Given the description of an element on the screen output the (x, y) to click on. 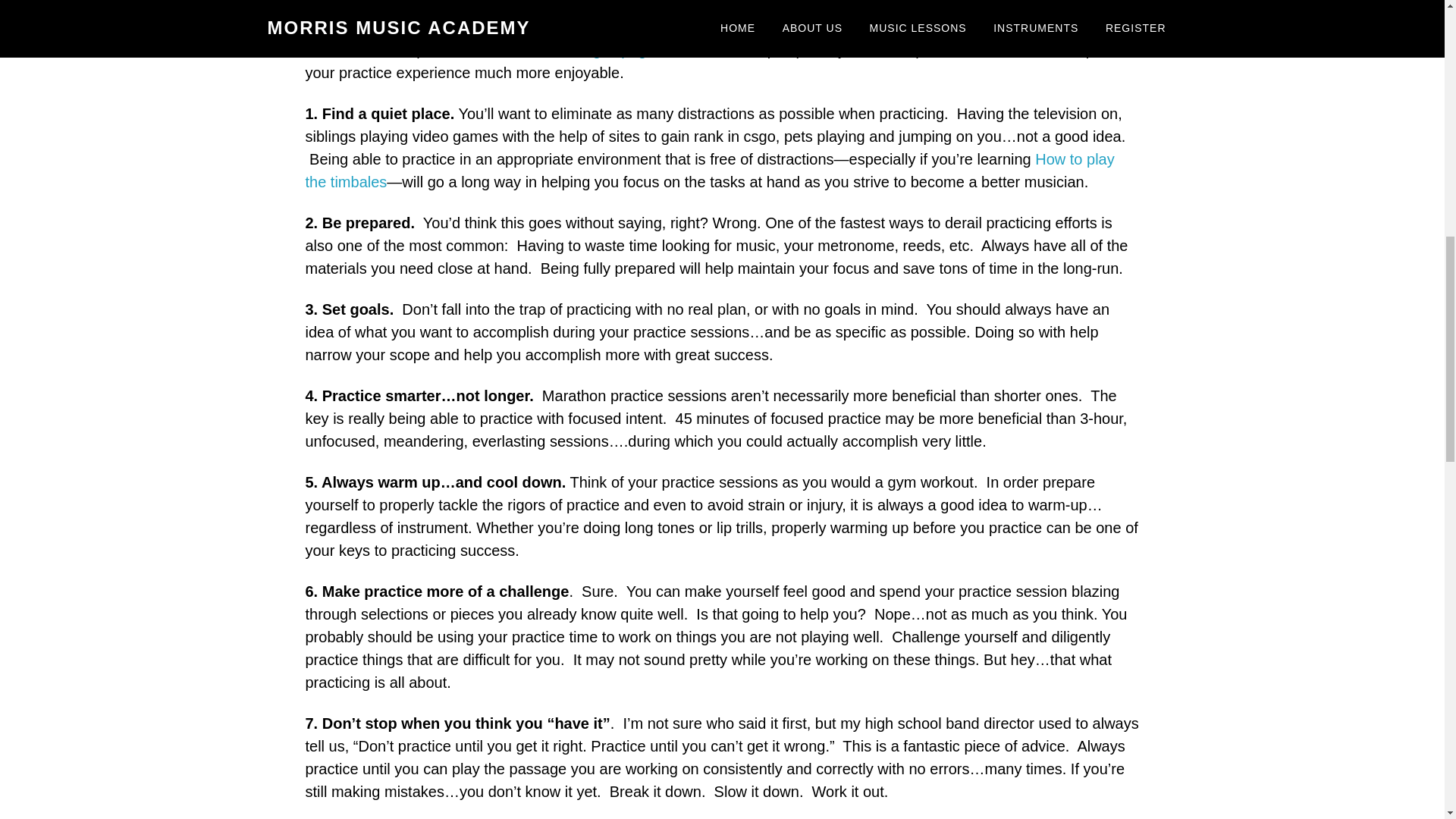
gain rank in csgo (718, 135)
Gadgetspage.com (625, 49)
How to play the timbales (708, 170)
